Given the description of an element on the screen output the (x, y) to click on. 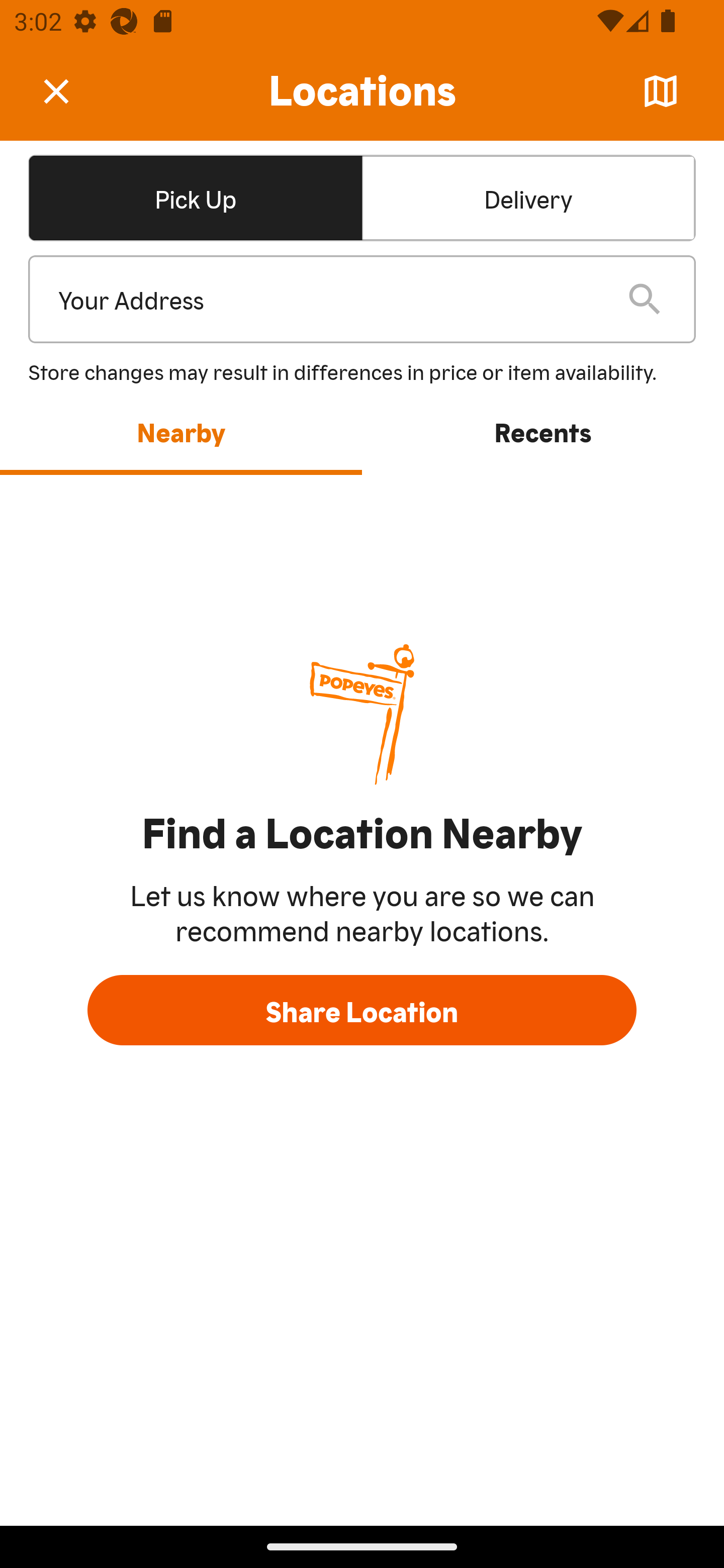
 (70, 90)
Map 󰦂 (660, 91)
Locations (362, 91)
Pick UpSelected Pick UpSelected Pick Up (195, 197)
Delivery Delivery Delivery (528, 197)
Your Address (327, 299)
Nearby (181, 430)
Recents (543, 430)
Share Location (361, 1010)
